Given the description of an element on the screen output the (x, y) to click on. 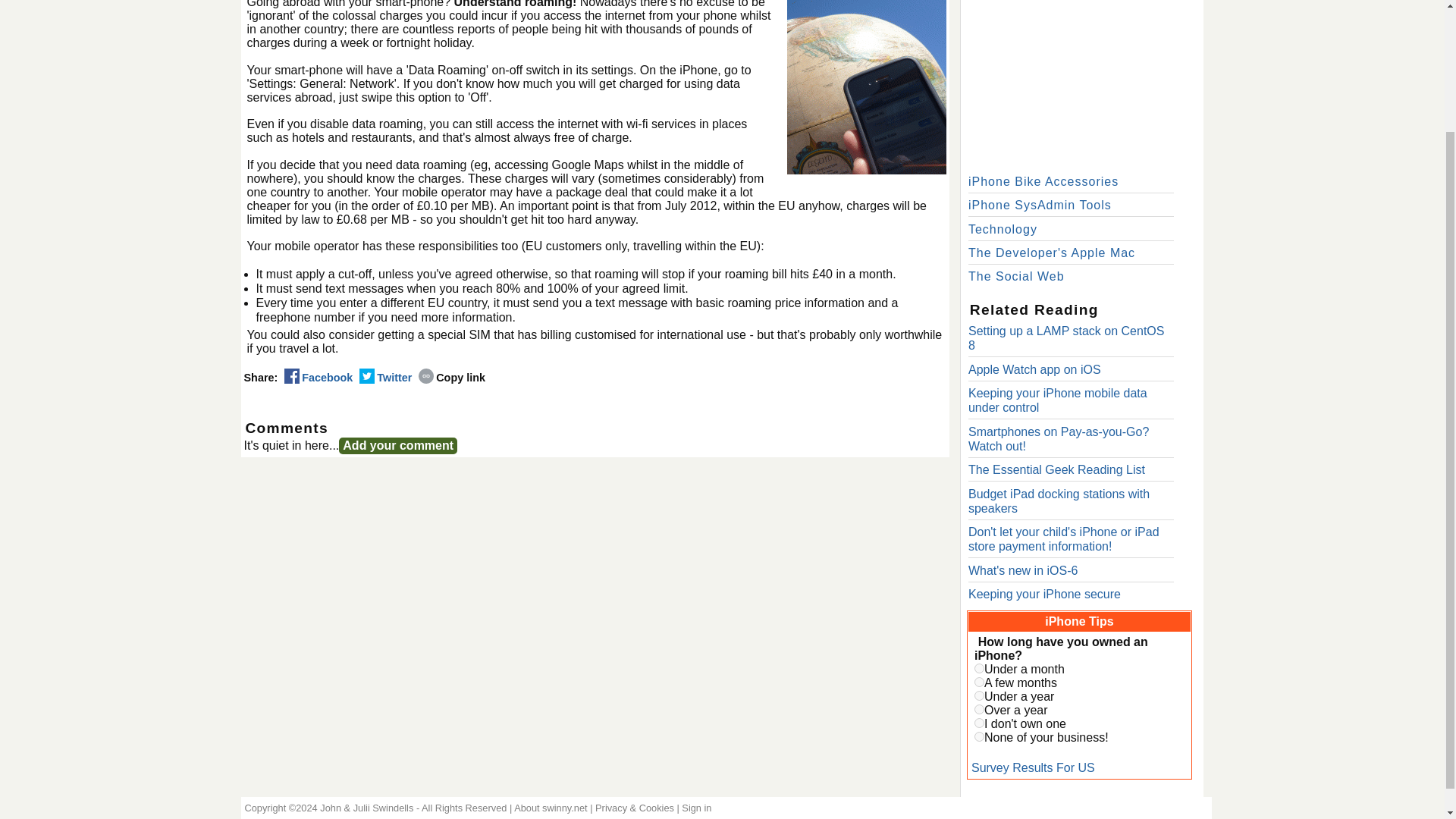
Apple Watch app on iOS (1034, 369)
None of your business! (979, 737)
Facebook (317, 377)
Smartphones on Pay-as-you-Go? Watch out! (1058, 438)
Copy link (451, 377)
iPhone SysAdmin Tools (1040, 205)
About swinny.net (550, 808)
Budget iPad docking stations with speakers (1059, 501)
I don't own one (979, 723)
Under a year (979, 696)
The Social Web (1016, 276)
iPhone Bike Accessories (1043, 181)
Sign in (696, 808)
Keeping your iPhone secure (1044, 594)
